Given the description of an element on the screen output the (x, y) to click on. 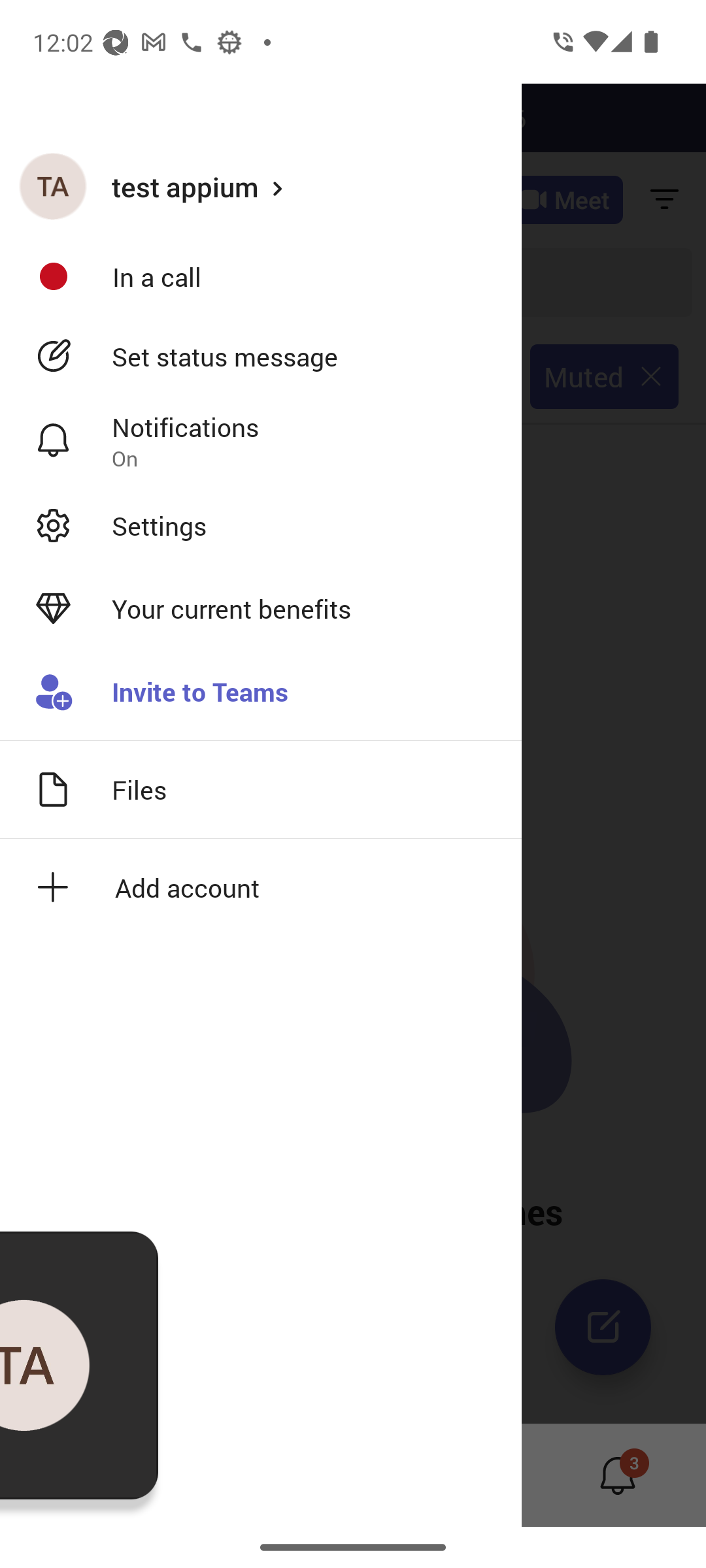
test appium (260, 186)
test appium profile picture (53, 186)
Notifications Notification settings On (260, 441)
Settings Open settings (260, 525)
Your current benefits (260, 608)
Invite to Teams Invite someone to your Teams org (260, 691)
Files (260, 789)
Add account icon Add account (260, 887)
